Given the description of an element on the screen output the (x, y) to click on. 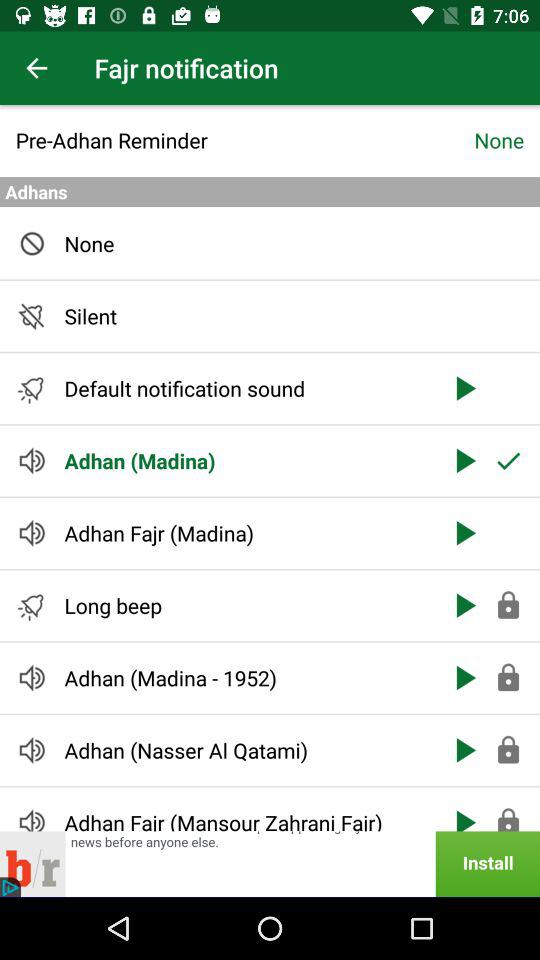
tap item next to none icon (244, 139)
